Given the description of an element on the screen output the (x, y) to click on. 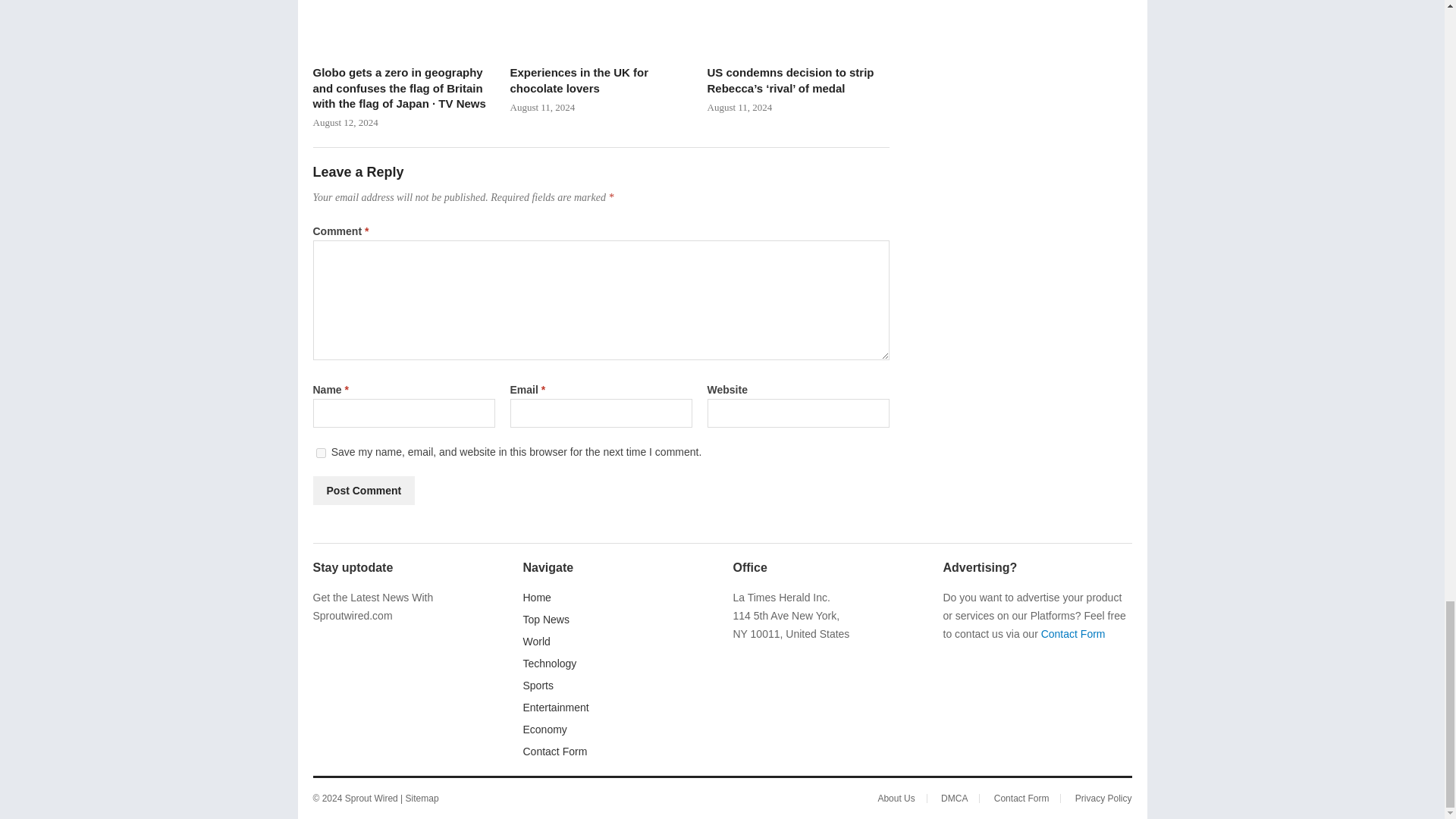
Experiences in the UK for chocolate lovers (600, 28)
yes (319, 452)
Post Comment (363, 490)
